Given the description of an element on the screen output the (x, y) to click on. 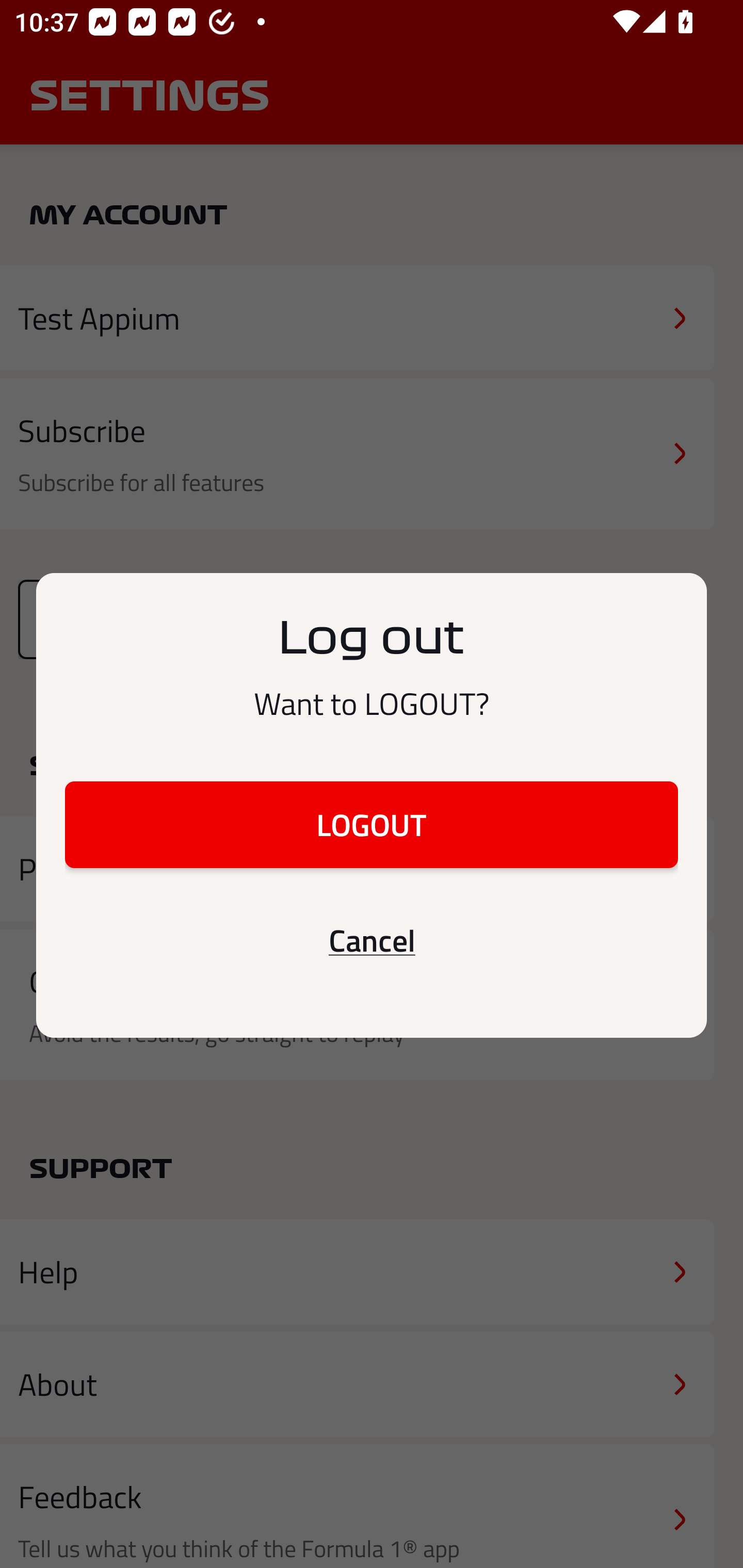
LOGOUT (371, 824)
Cancel (371, 939)
